Given the description of an element on the screen output the (x, y) to click on. 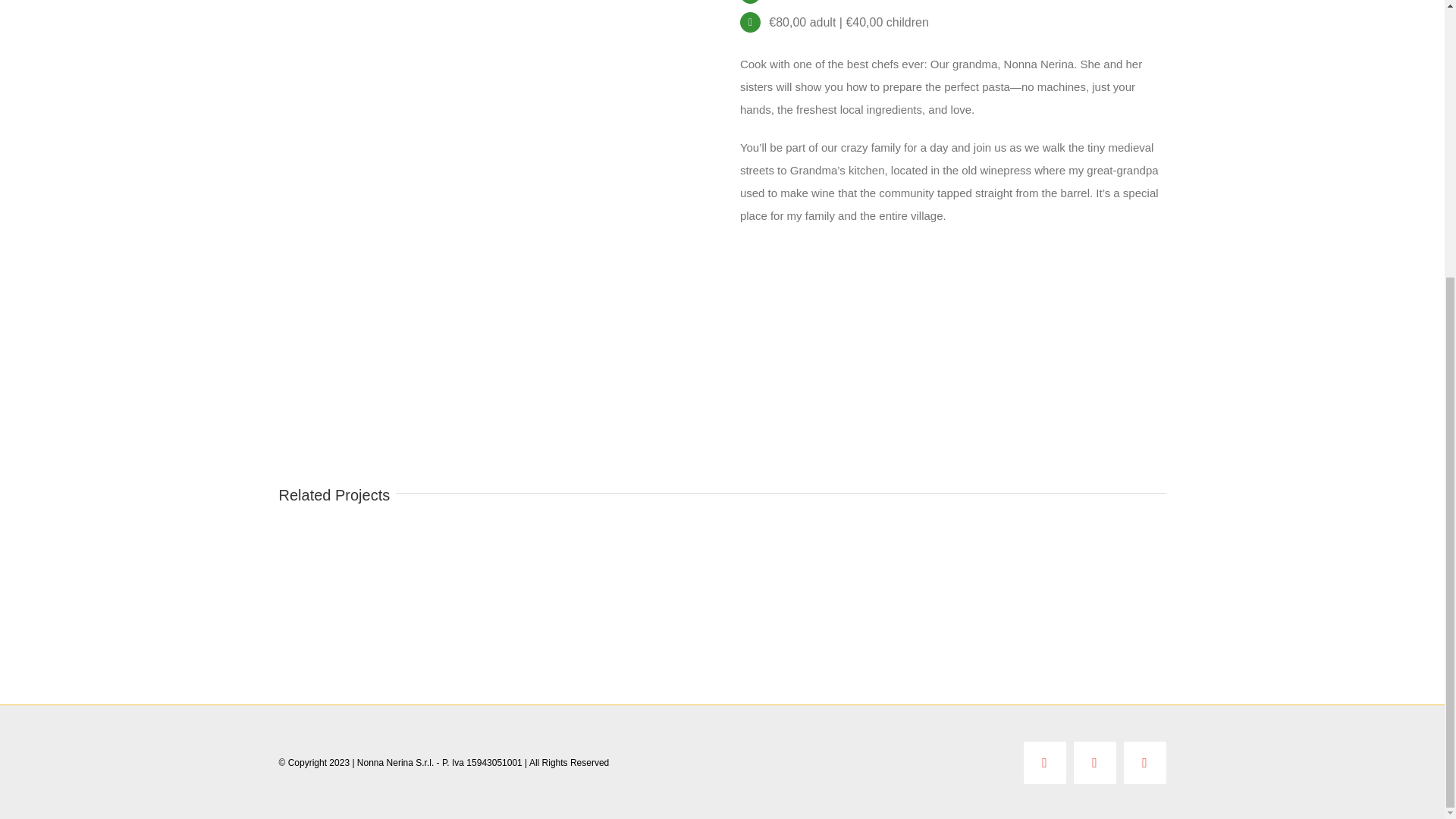
YouTube (1145, 762)
YouTube (1145, 762)
Facebook (1044, 762)
Facebook (1044, 762)
Instagram (1095, 762)
Instagram (1095, 762)
